Given the description of an element on the screen output the (x, y) to click on. 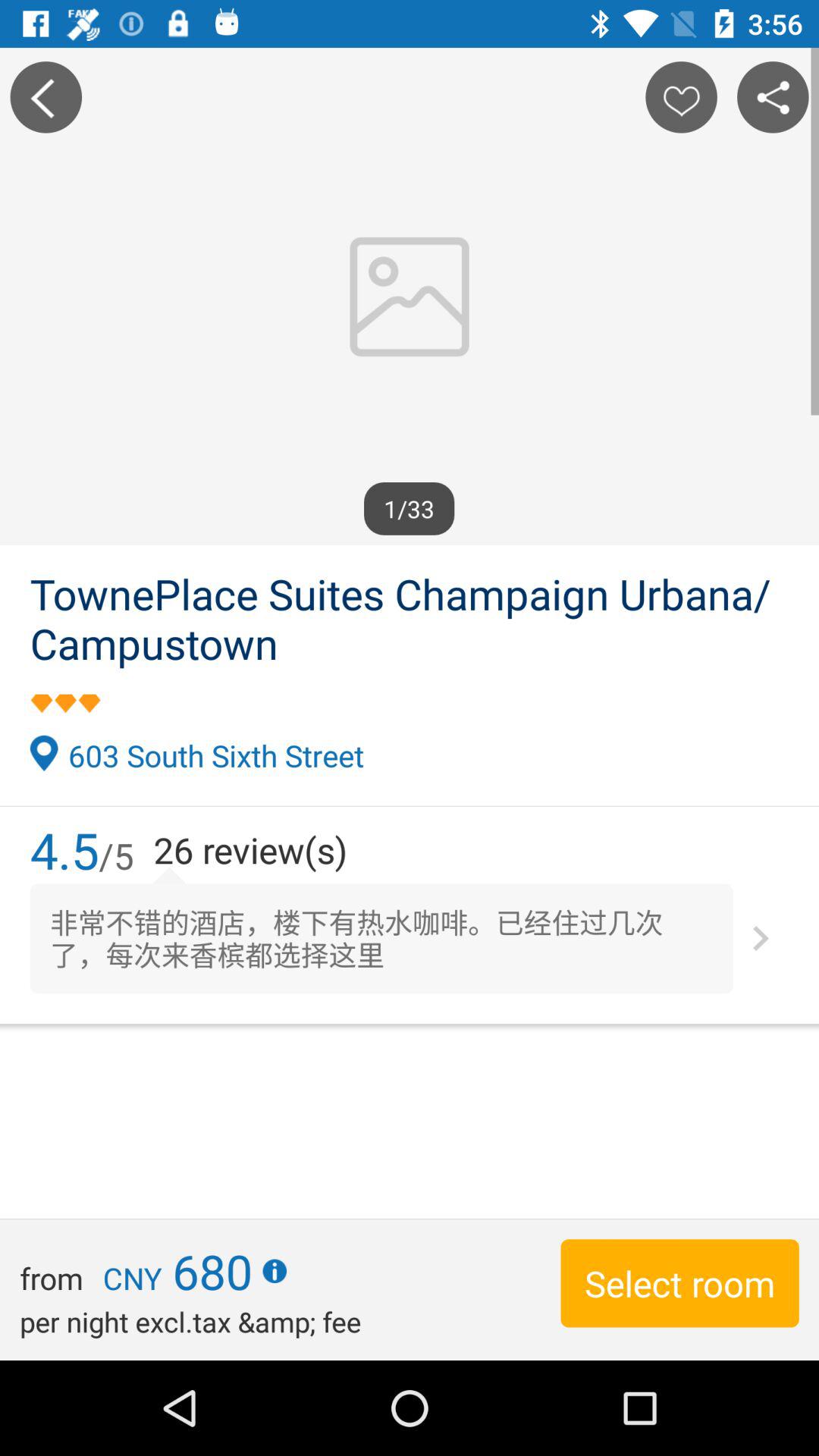
share the article (772, 97)
